Given the description of an element on the screen output the (x, y) to click on. 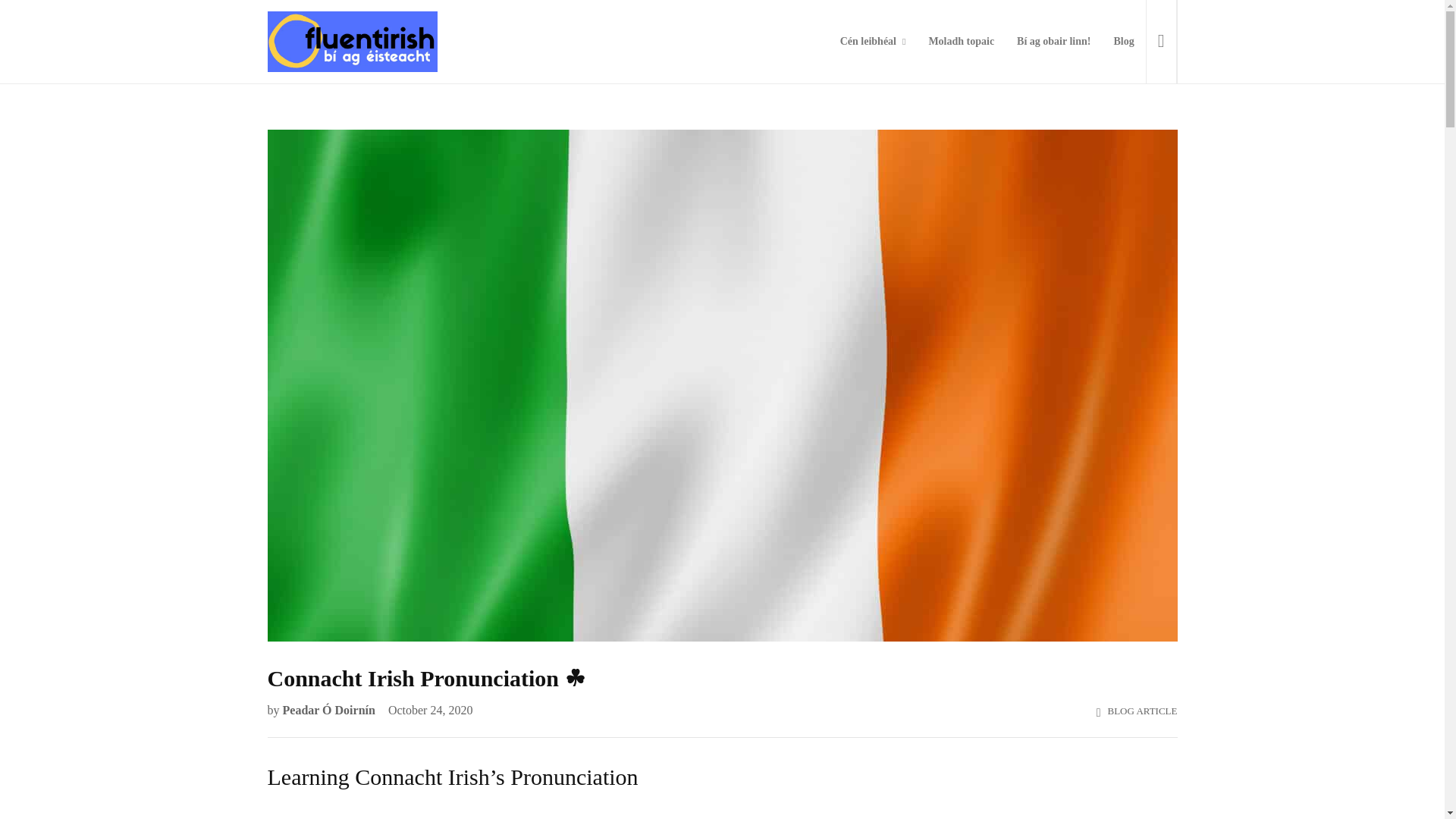
Moladh topaic (961, 41)
Blog (1123, 41)
October 24, 2020 (425, 709)
BLOG ARTICLE (1141, 710)
